Given the description of an element on the screen output the (x, y) to click on. 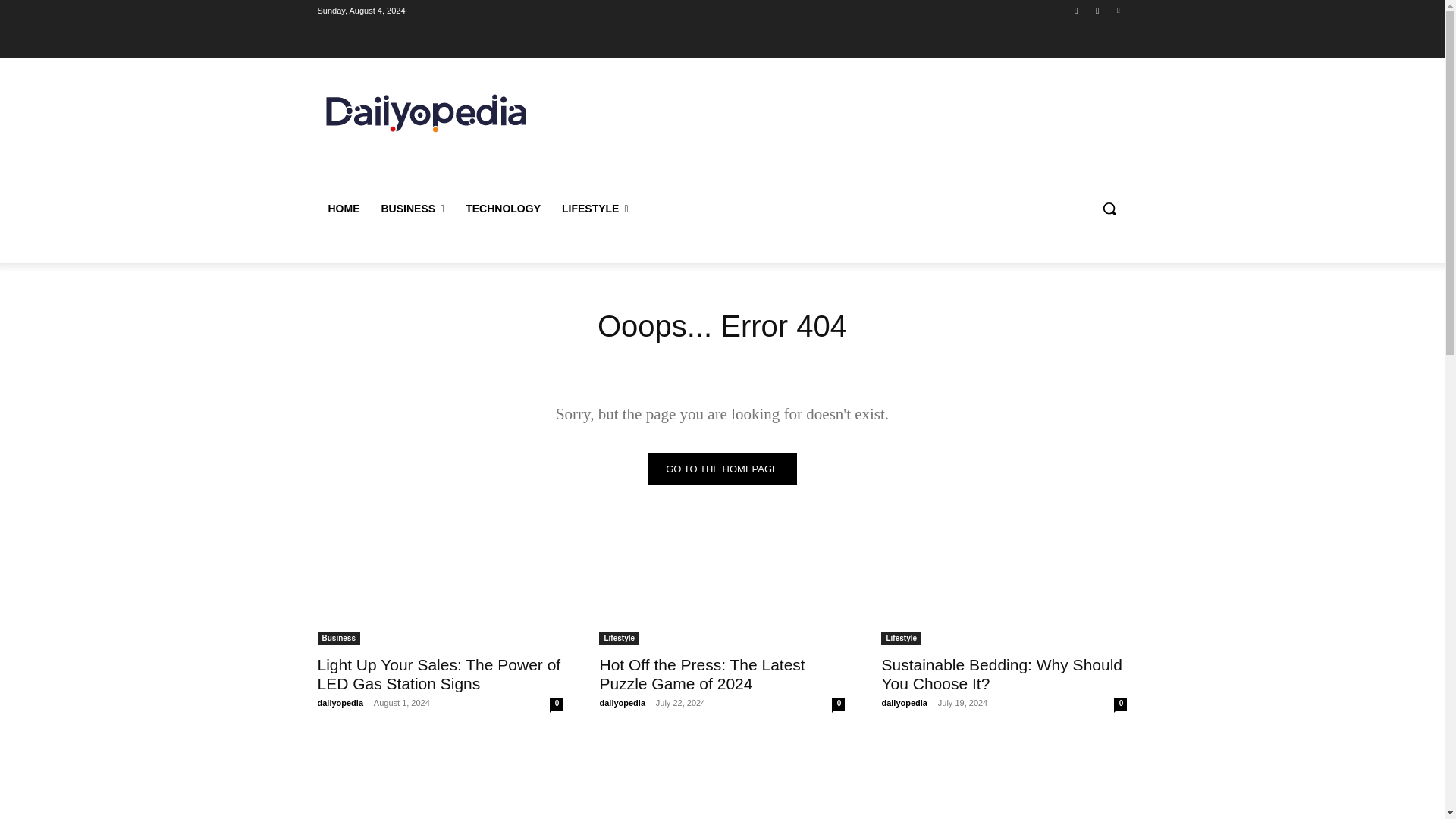
Lifestyle (900, 638)
Light Up Your Sales: The Power of LED Gas Station Signs (439, 583)
Go to the homepage (721, 468)
Hot Off the Press: The Latest Puzzle Game of 2024 (721, 583)
dailyopedia (621, 702)
0 (837, 703)
dailyopedia (339, 702)
HOME (343, 208)
TECHNOLOGY (502, 208)
0 (556, 703)
Light Up Your Sales: The Power of LED Gas Station Signs (438, 674)
Green Building Practices Gaining Momentum in Oman (439, 778)
Lifestyle (618, 638)
Hot Off the Press: The Latest Puzzle Game of 2024 (701, 674)
GO TO THE HOMEPAGE (721, 468)
